Given the description of an element on the screen output the (x, y) to click on. 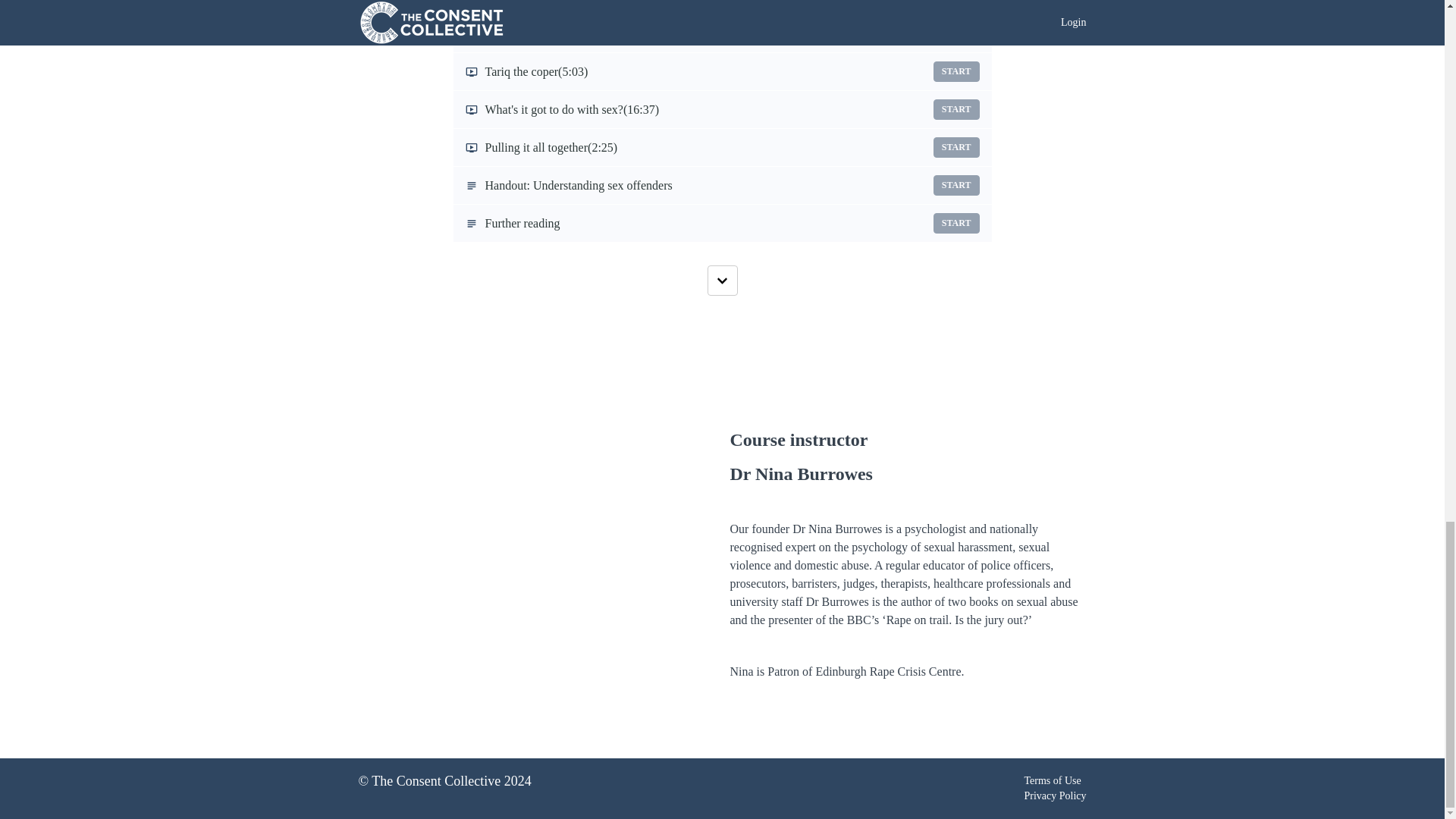
START (956, 71)
START (721, 185)
START (956, 185)
START (956, 222)
START (721, 222)
START (956, 109)
START (956, 33)
